Given the description of an element on the screen output the (x, y) to click on. 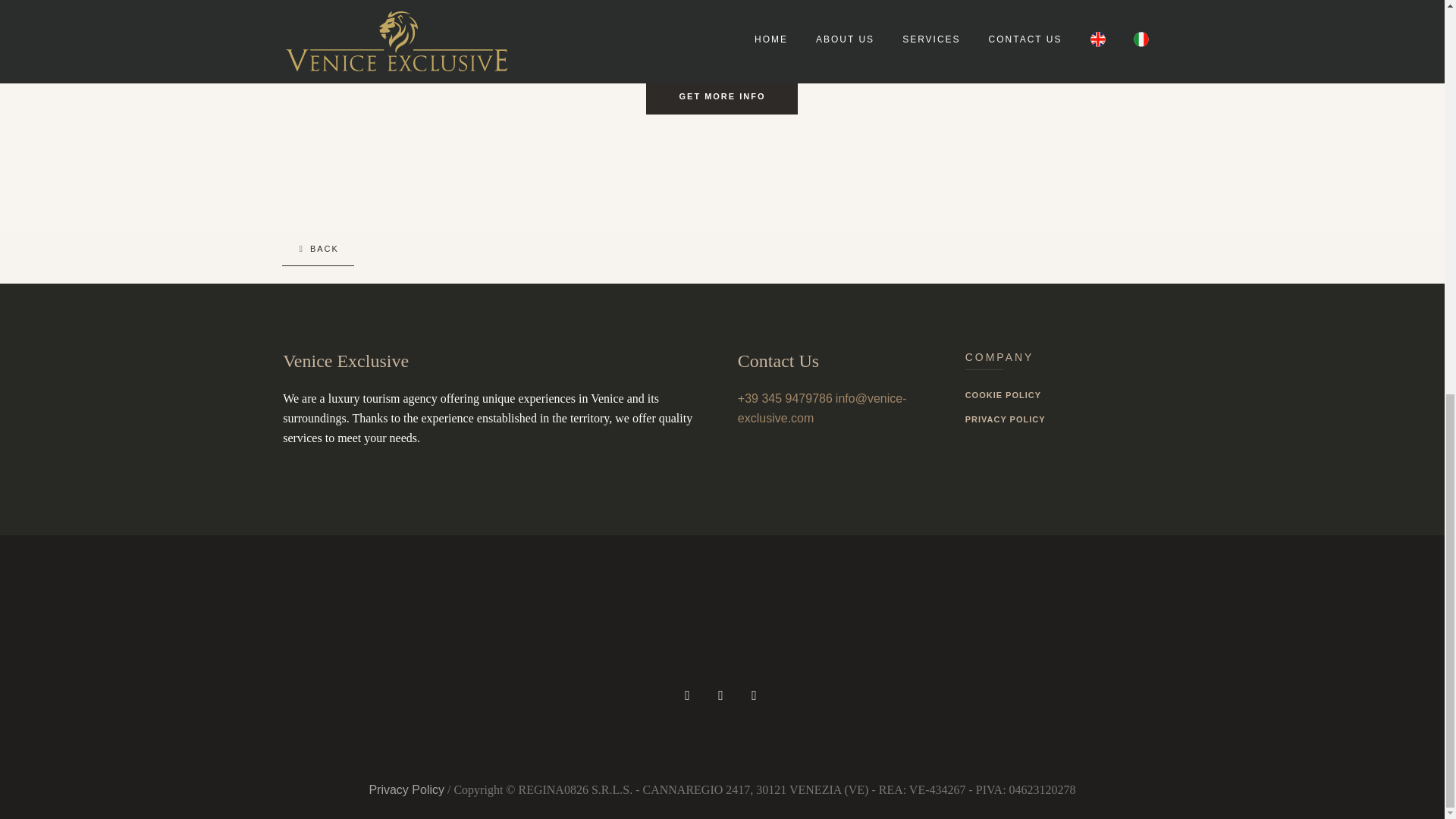
Facebook (720, 694)
GET MORE INFO (721, 96)
COOKIE POLICY (1063, 398)
PRIVACY POLICY (1063, 419)
Instagram (686, 694)
Twitter (753, 694)
Privacy Policy (406, 789)
BACK (317, 248)
